Given the description of an element on the screen output the (x, y) to click on. 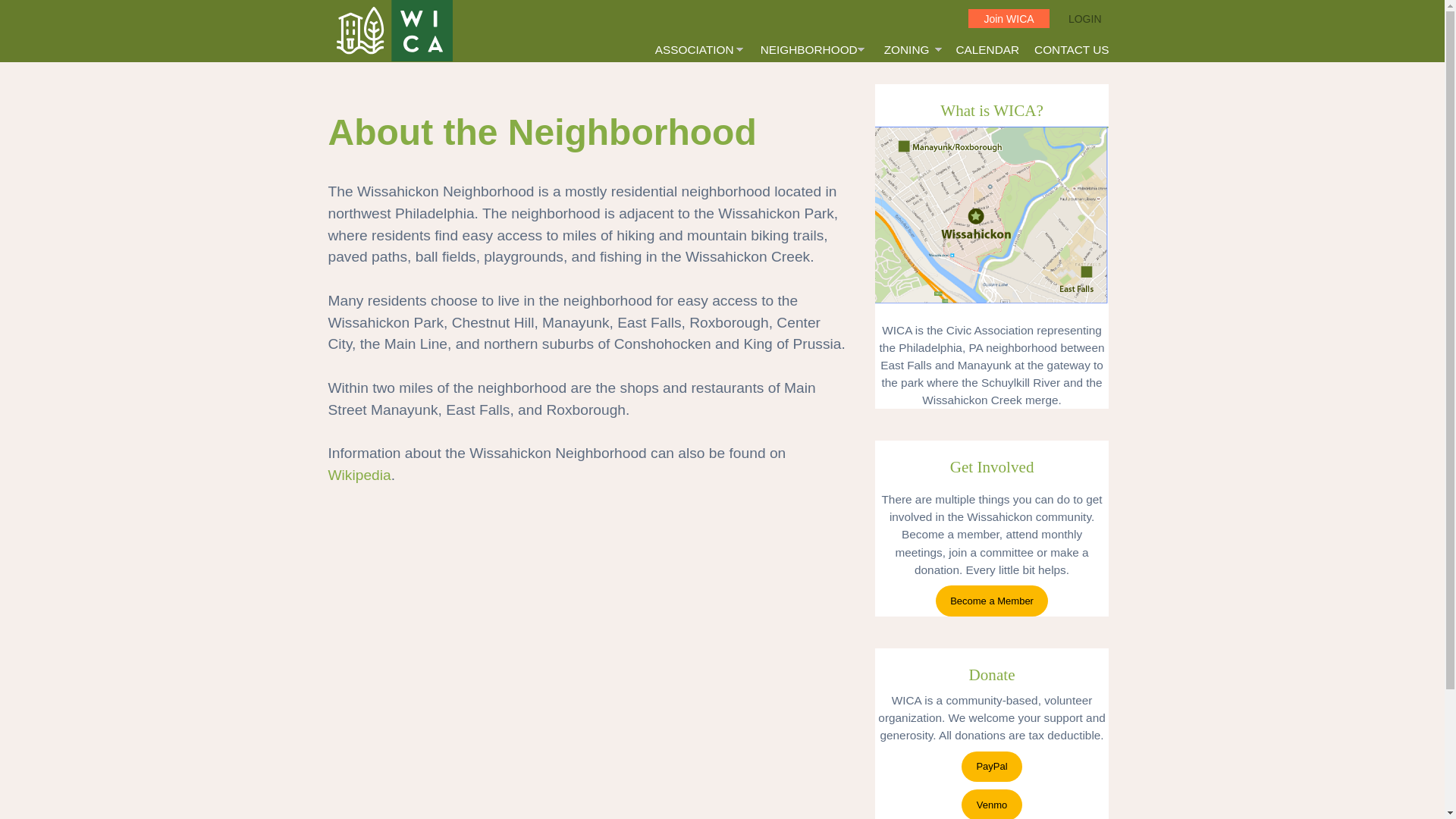
Become a Member (992, 600)
CALENDAR (986, 49)
Join WICA (1008, 18)
CONTACT US (1071, 49)
ZONING (912, 49)
Wikipedia (358, 474)
PayPal (991, 766)
Venmo (991, 804)
ASSOCIATION (699, 49)
LOGIN (1085, 19)
